Given the description of an element on the screen output the (x, y) to click on. 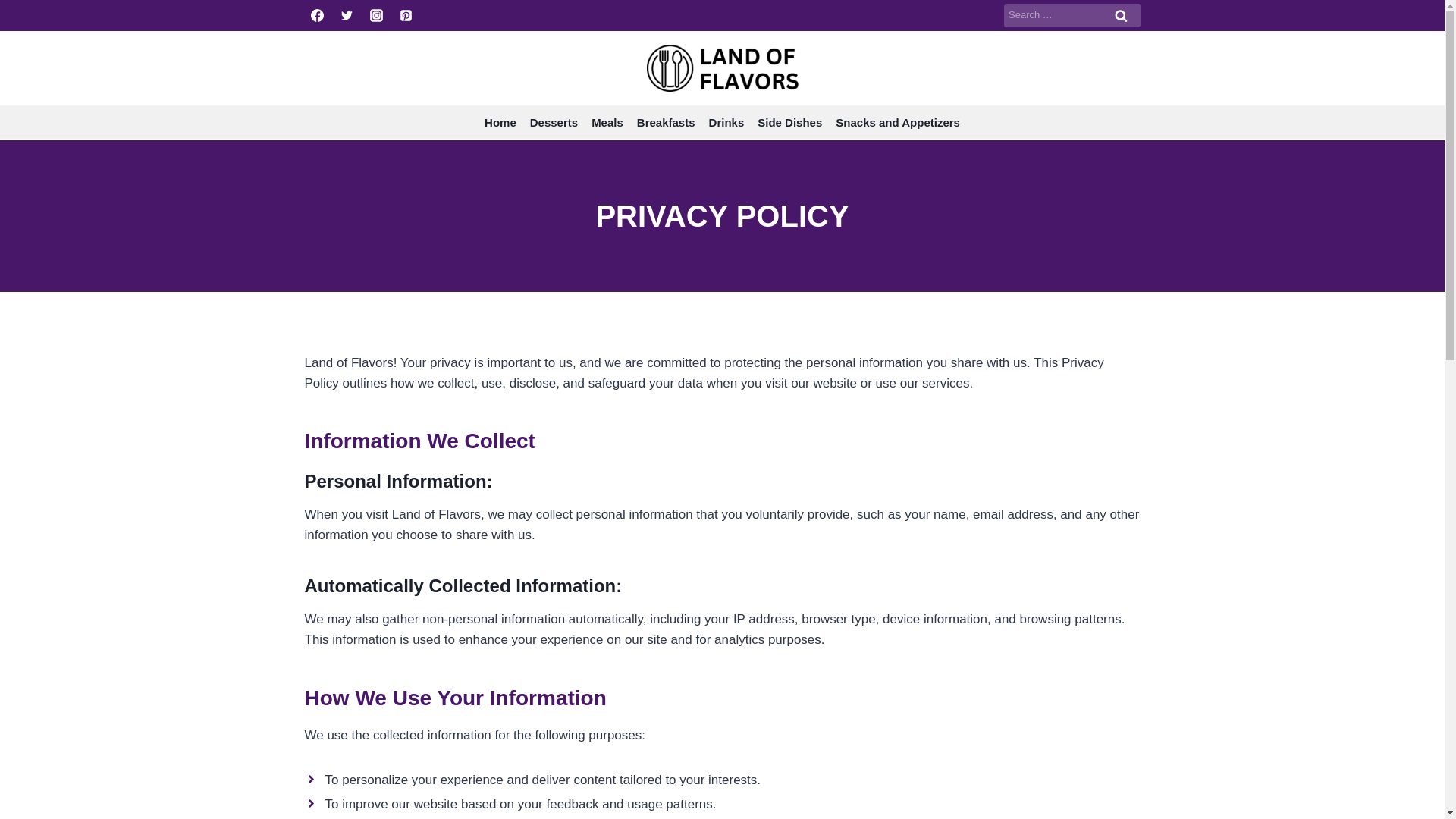
Desserts (553, 122)
Search (1121, 15)
Drinks (726, 122)
Snacks and Appetizers (897, 122)
Search (1121, 15)
Meals (607, 122)
Search (1121, 15)
Breakfasts (665, 122)
Side Dishes (789, 122)
Home (499, 122)
